Given the description of an element on the screen output the (x, y) to click on. 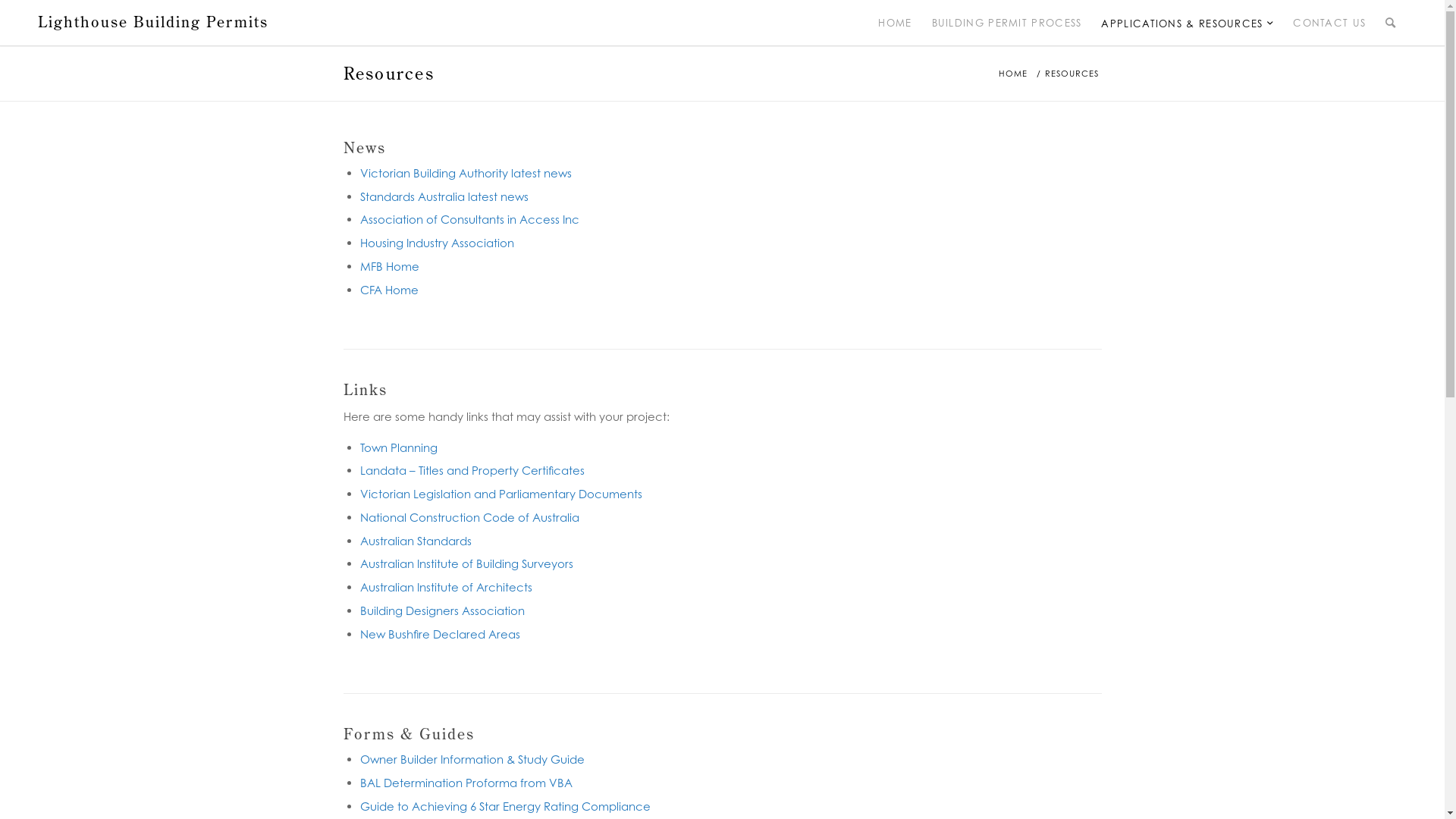
Guide to Achieving 6 Star Energy Rating Compliance Element type: text (504, 806)
Town Planning Element type: text (397, 446)
Victorian Legislation and Parliamentary Documents Element type: text (500, 493)
Australian Institute of Architects Element type: text (445, 587)
HOME Element type: text (1012, 73)
BUILDING PERMIT PROCESS Element type: text (1007, 22)
Australian Institute of Building Surveyors Element type: text (465, 563)
New Bushfire Declared Areas Element type: text (439, 633)
MFB Home Element type: text (388, 266)
HOME Element type: text (894, 22)
BAL Determination Proforma from VBA Element type: text (465, 782)
APPLICATIONS & RESOURCES Element type: text (1187, 22)
Australian Standards Element type: text (414, 540)
Housing Industry Association Element type: text (436, 242)
National Construction Code of Australia Element type: text (468, 517)
Building Designers Association Element type: text (441, 610)
Victorian Building Authority latest news Element type: text (465, 173)
Owner Builder Information & Study Guide Element type: text (471, 759)
Resources Element type: text (387, 73)
CONTACT US Element type: text (1329, 22)
Lighthouse Building Permits Element type: text (152, 21)
Association of Consultants in Access Inc Element type: text (468, 219)
Standards Australia latest news Element type: text (443, 196)
CFA Home Element type: text (388, 289)
